Given the description of an element on the screen output the (x, y) to click on. 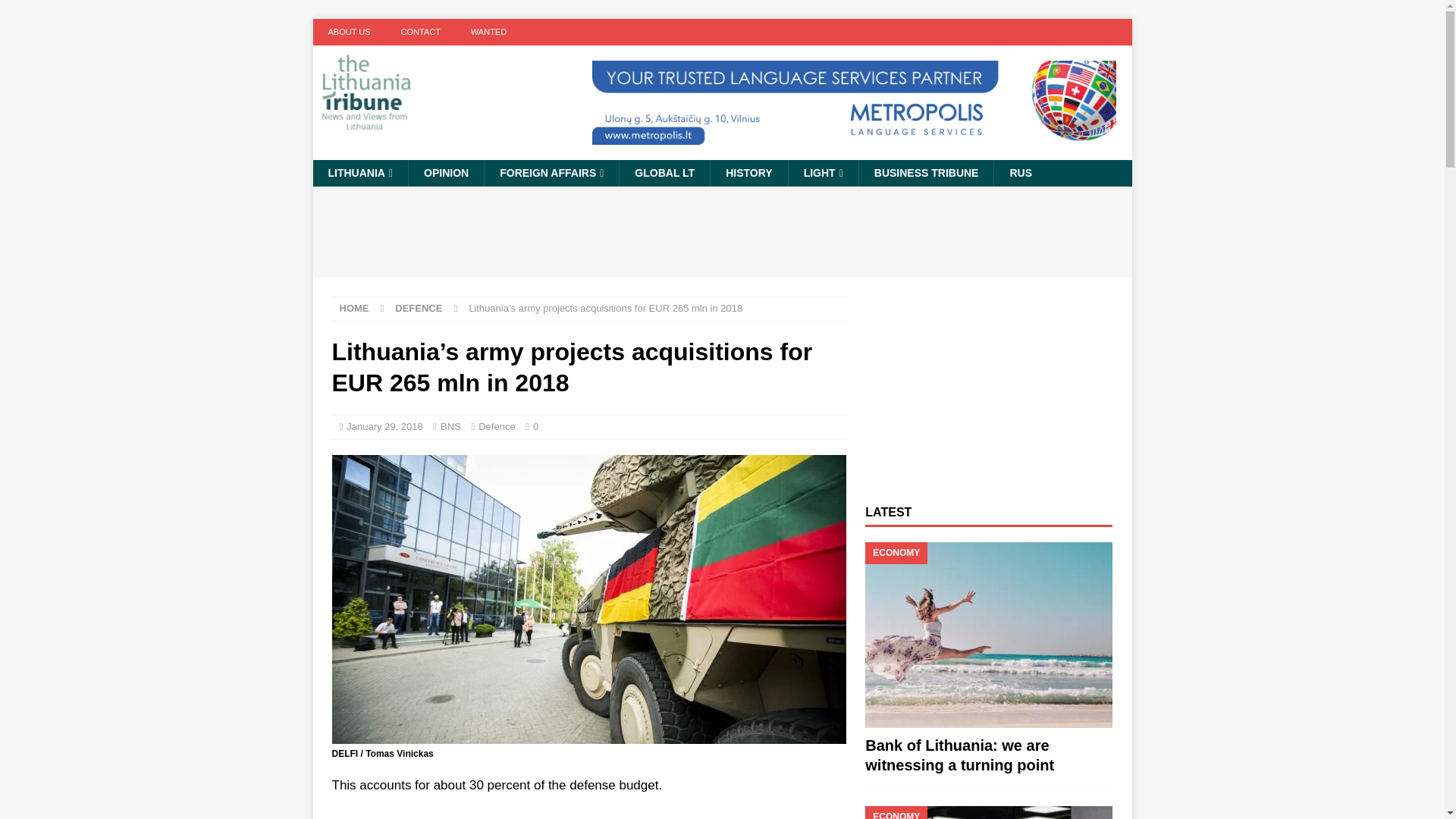
LITHUANIA (360, 172)
WANTED (488, 31)
ABOUT US (349, 31)
CONTACT (420, 31)
